Given the description of an element on the screen output the (x, y) to click on. 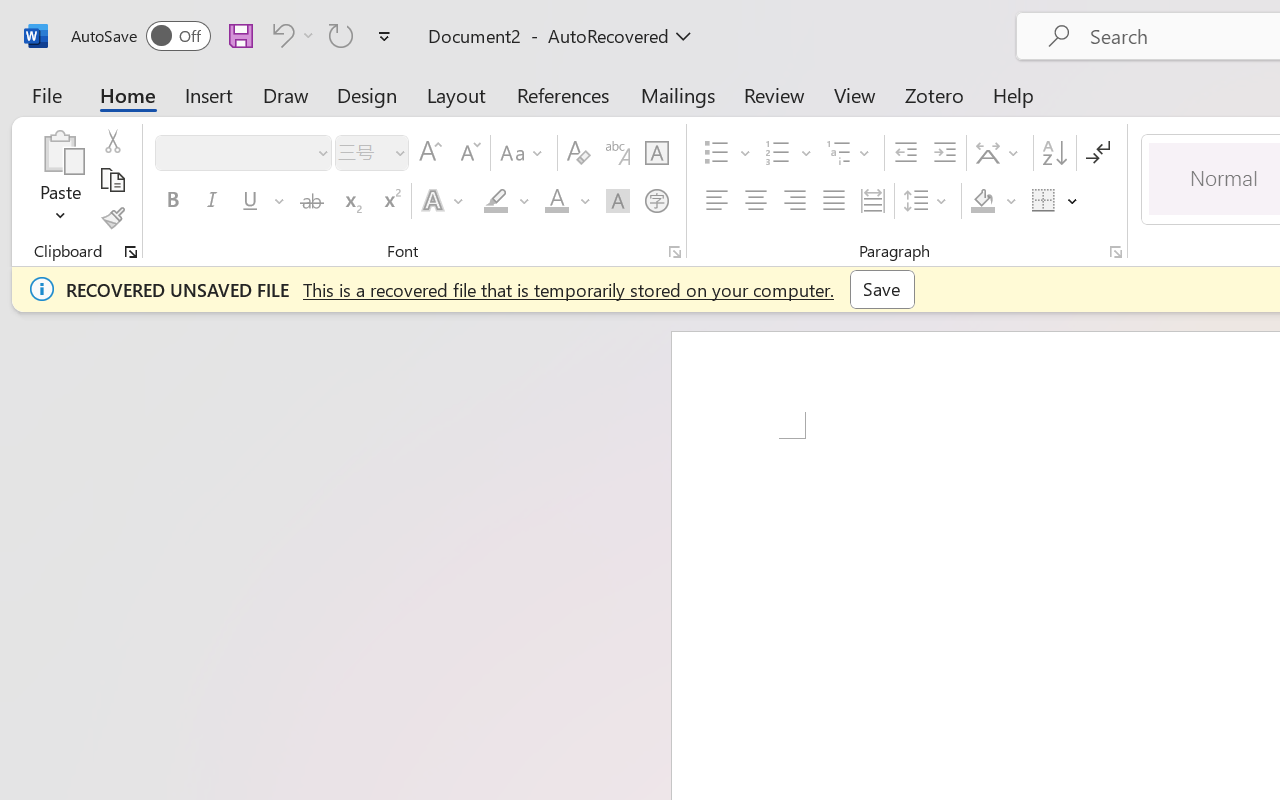
Font Color RGB(255, 0, 0) (556, 201)
Format Painter (112, 218)
Superscript (390, 201)
Character Border (656, 153)
Decrease Indent (906, 153)
Clear Formatting (578, 153)
Change Case (524, 153)
Copy (112, 179)
